Given the description of an element on the screen output the (x, y) to click on. 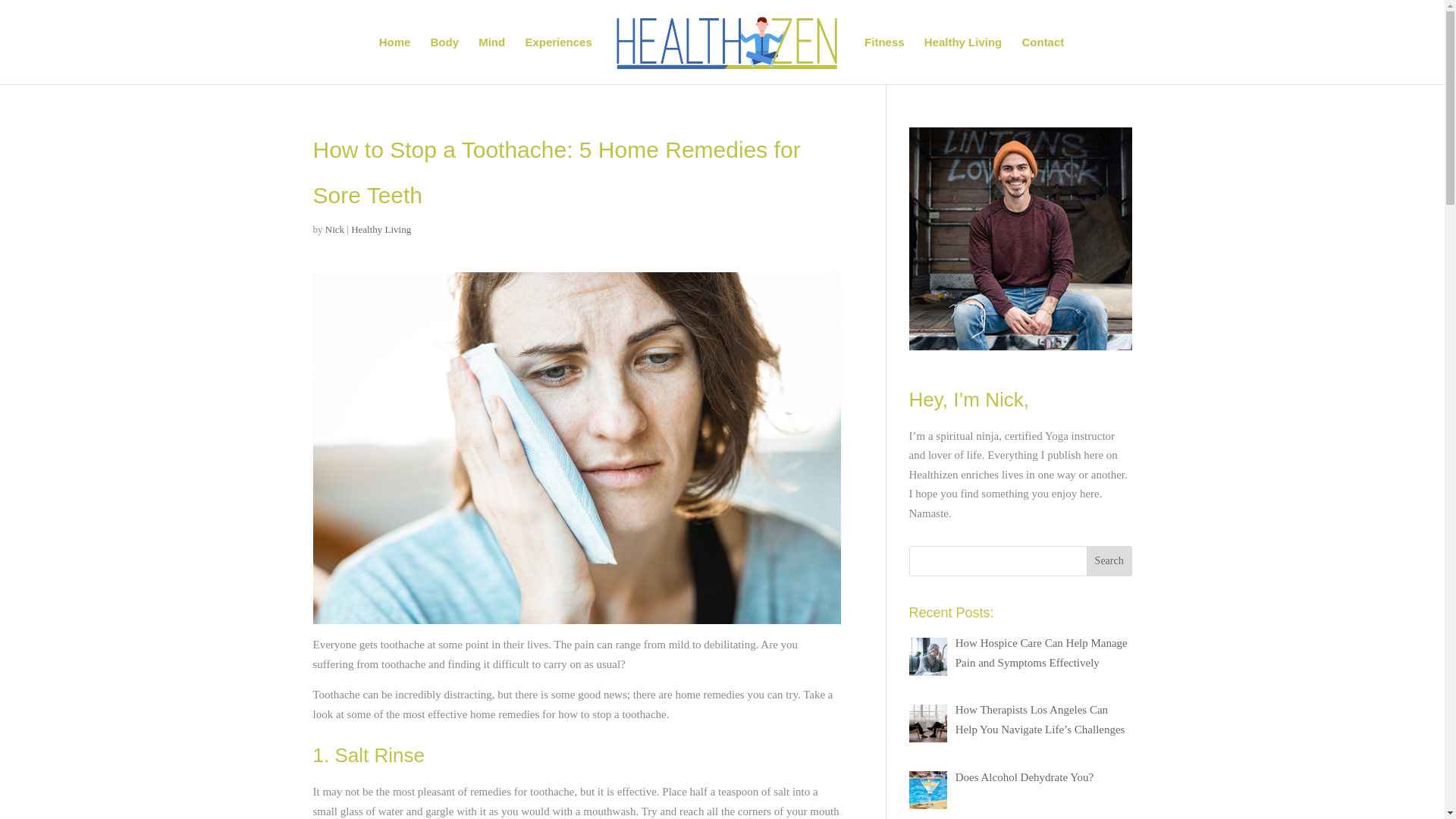
Nick (333, 229)
Healthy Living (380, 229)
Search (1109, 561)
Healthy Living (963, 60)
Experiences (557, 60)
Search (1109, 561)
Contact (1043, 60)
Posts by Nick (333, 229)
Does Alcohol Dehydrate You? (1024, 776)
